Given the description of an element on the screen output the (x, y) to click on. 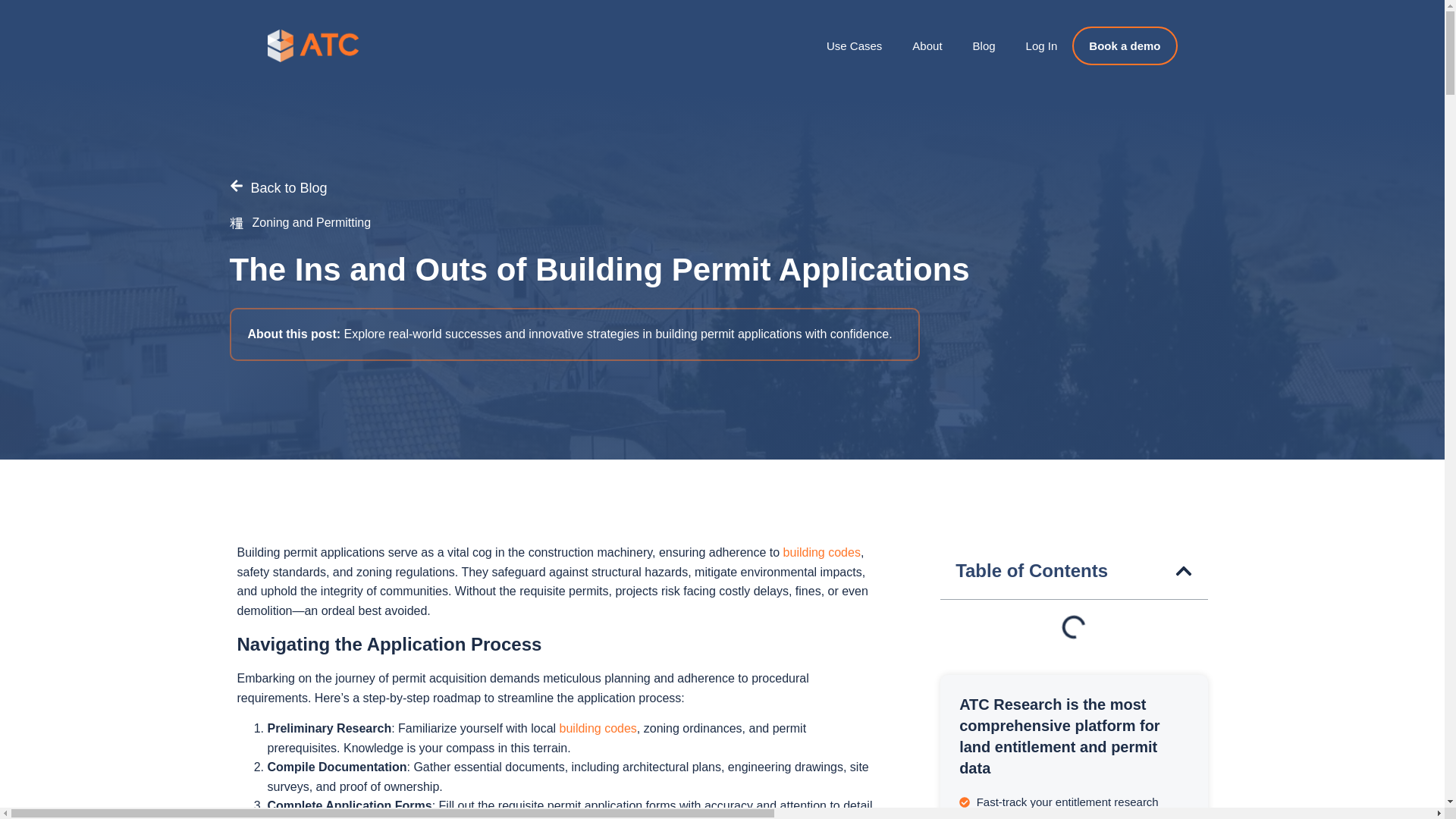
building codes (821, 552)
building codes (598, 727)
Blog (984, 45)
Back to Blog (277, 188)
Zoning and Permitting (311, 222)
Log In (1041, 45)
About (926, 45)
Use Cases (853, 45)
Book a demo (1124, 45)
